Given the description of an element on the screen output the (x, y) to click on. 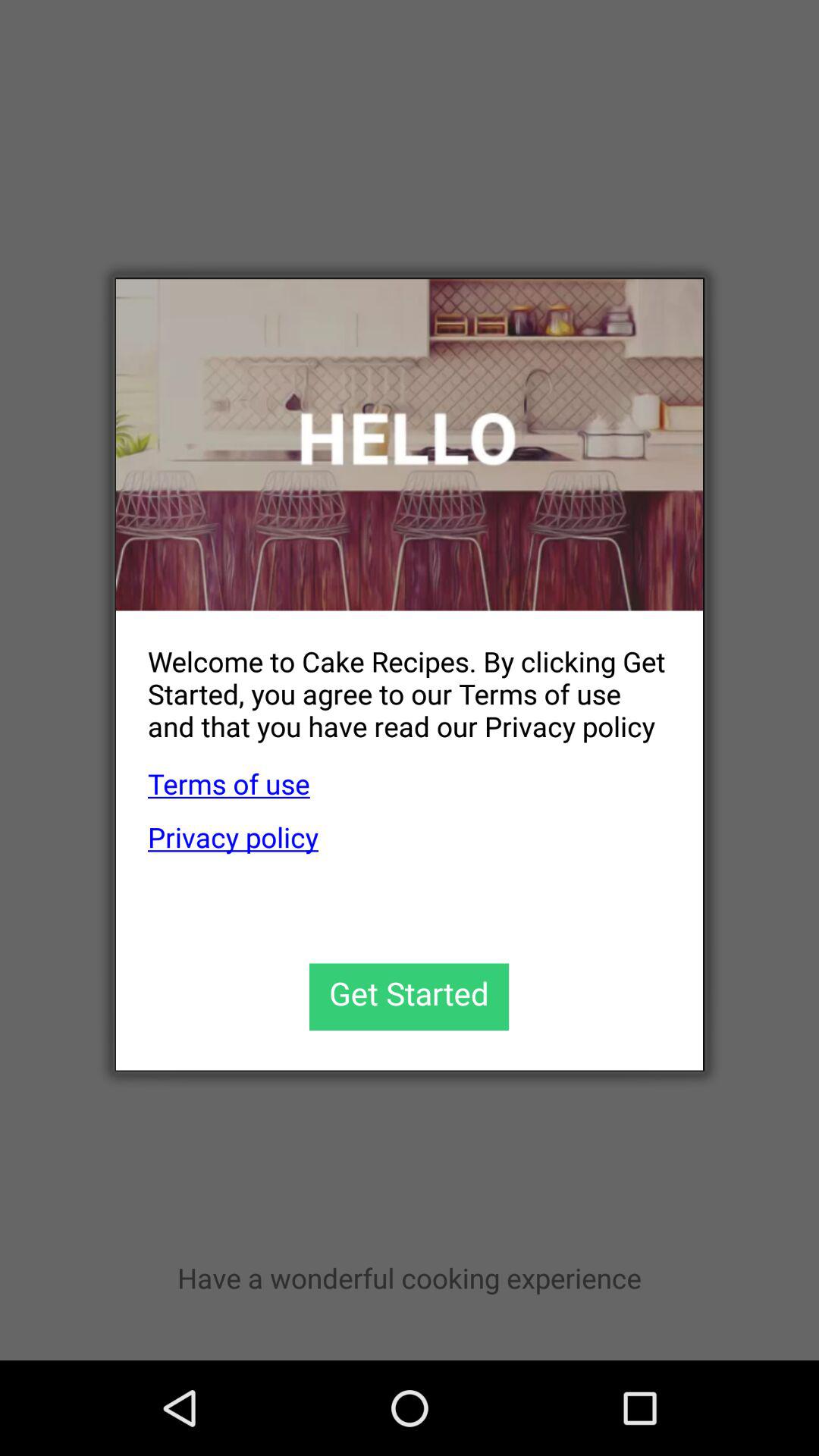
move to next screen (409, 996)
